Given the description of an element on the screen output the (x, y) to click on. 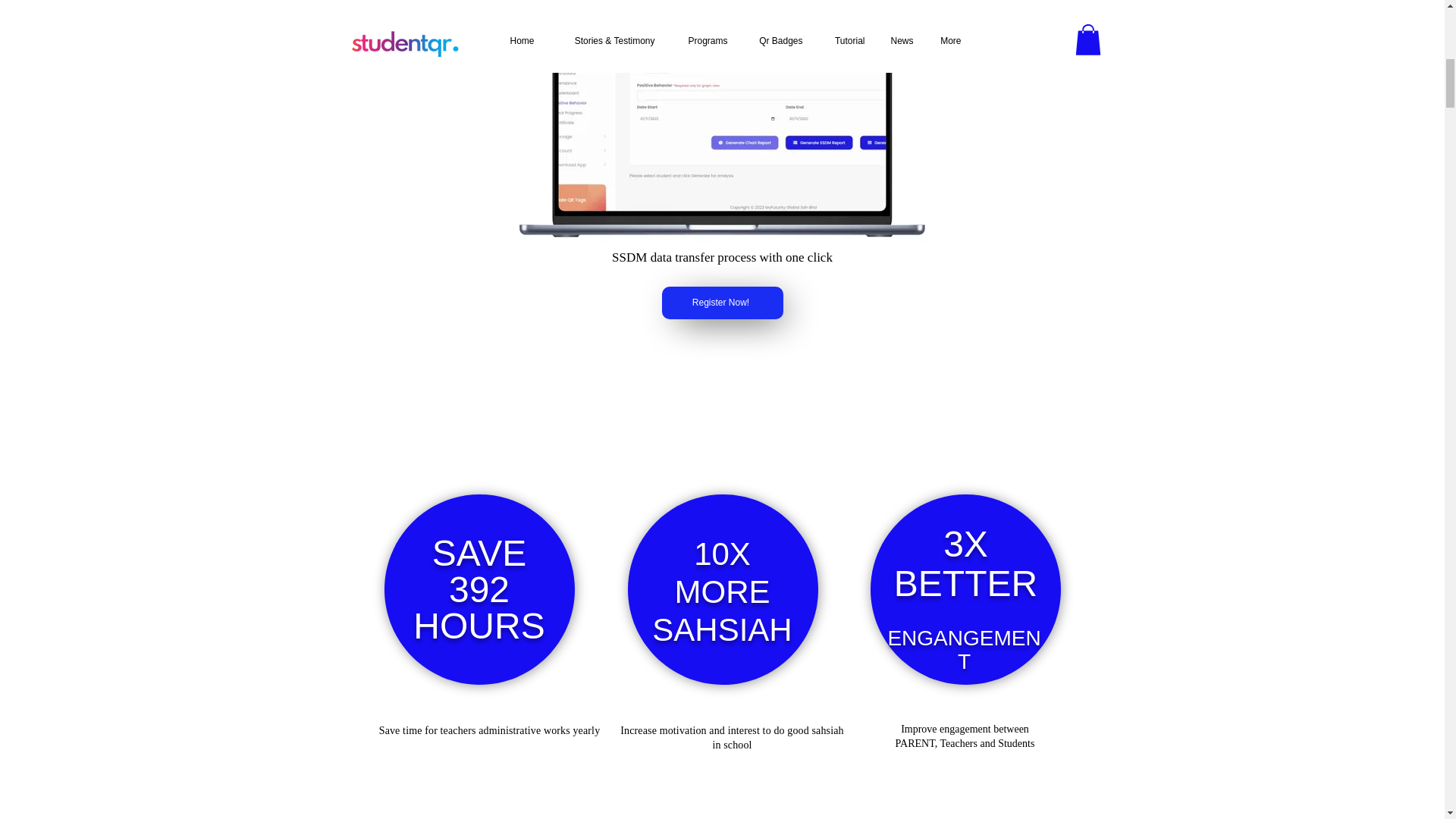
Register Now! (722, 302)
